Given the description of an element on the screen output the (x, y) to click on. 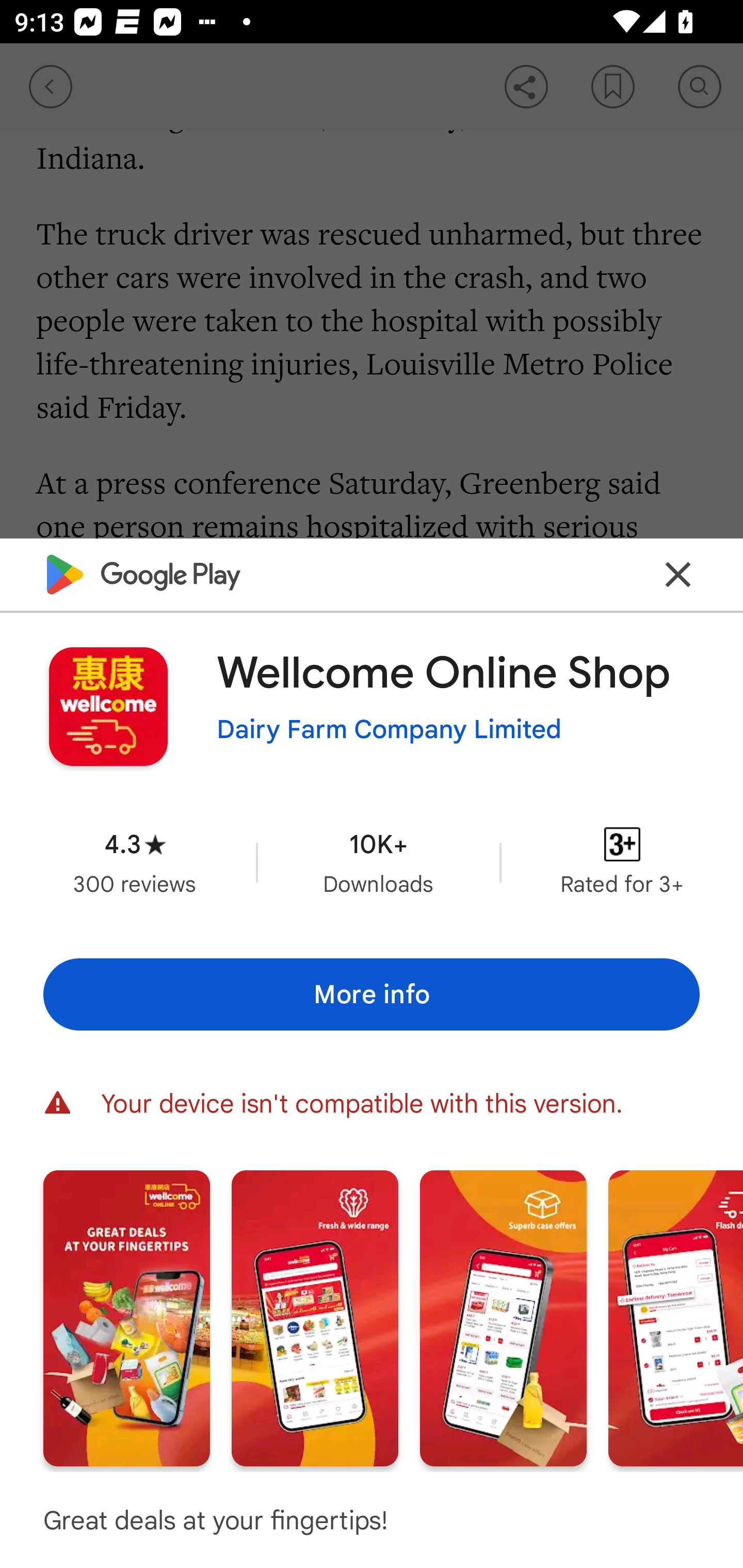
Close (677, 573)
Image of app or game icon for Wellcome Online Shop (108, 706)
Dairy Farm Company Limited (388, 729)
More info (371, 994)
Screenshot "1" of "4" (126, 1317)
Screenshot "2" of "4" (314, 1317)
Screenshot "3" of "4" (502, 1317)
Screenshot "4" of "4" (675, 1317)
